Given the description of an element on the screen output the (x, y) to click on. 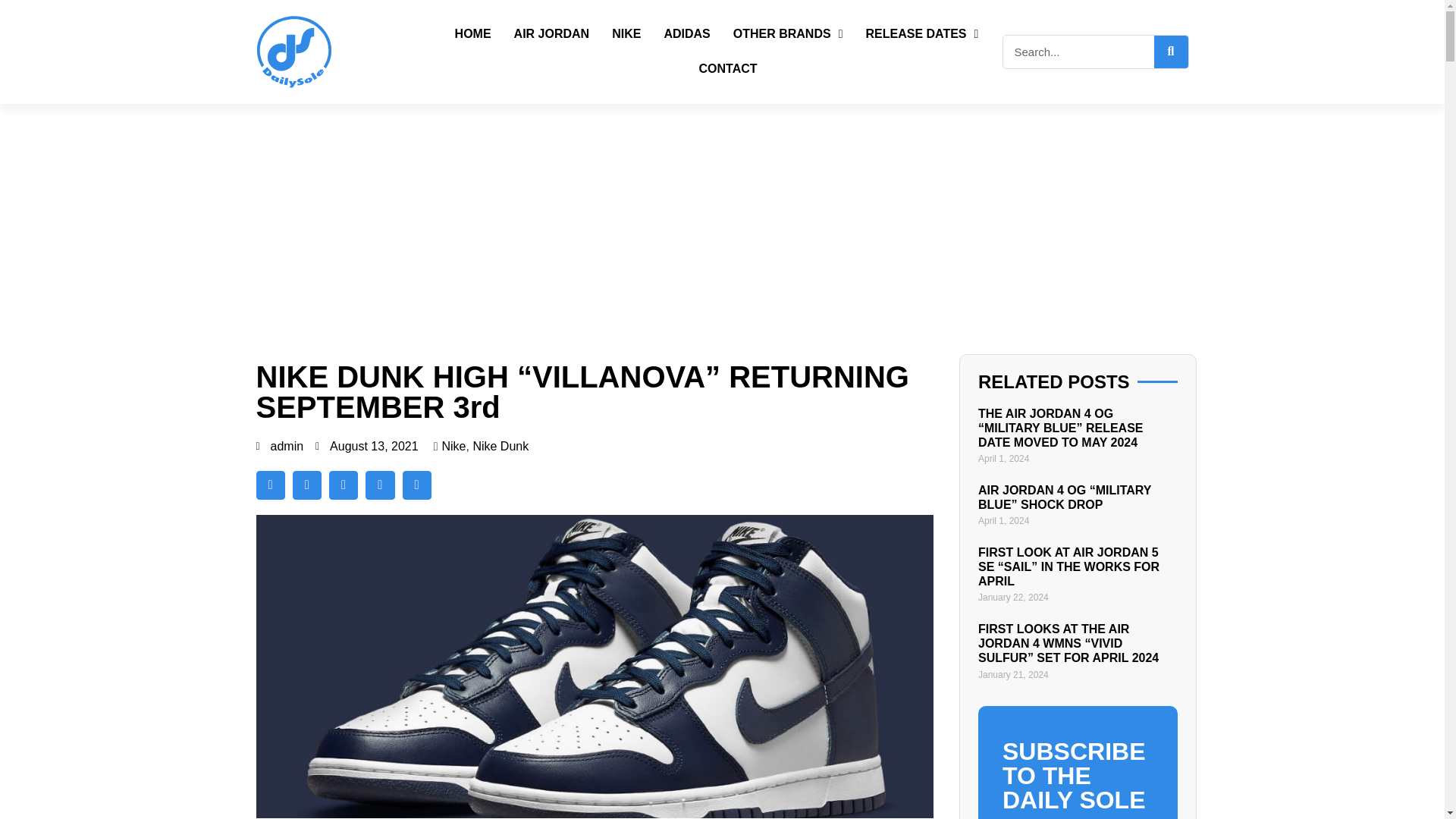
OTHER BRANDS (788, 33)
AIR JORDAN (551, 33)
ADIDAS (686, 33)
CONTACT (727, 68)
RELEASE DATES (921, 33)
HOME (473, 33)
